Given the description of an element on the screen output the (x, y) to click on. 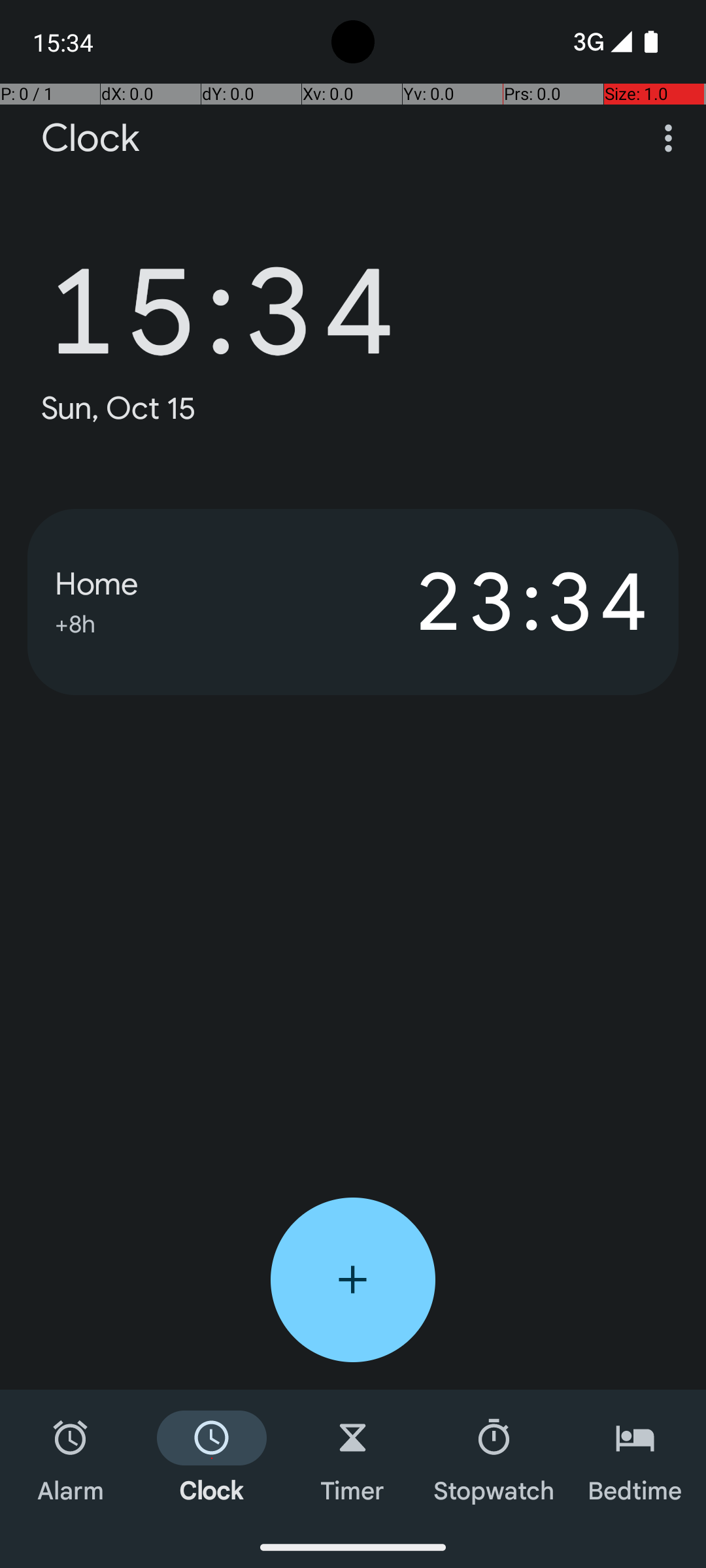
+8h Element type: android.widget.TextView (74, 621)
23:34 Element type: android.widget.TextView (502, 601)
